Given the description of an element on the screen output the (x, y) to click on. 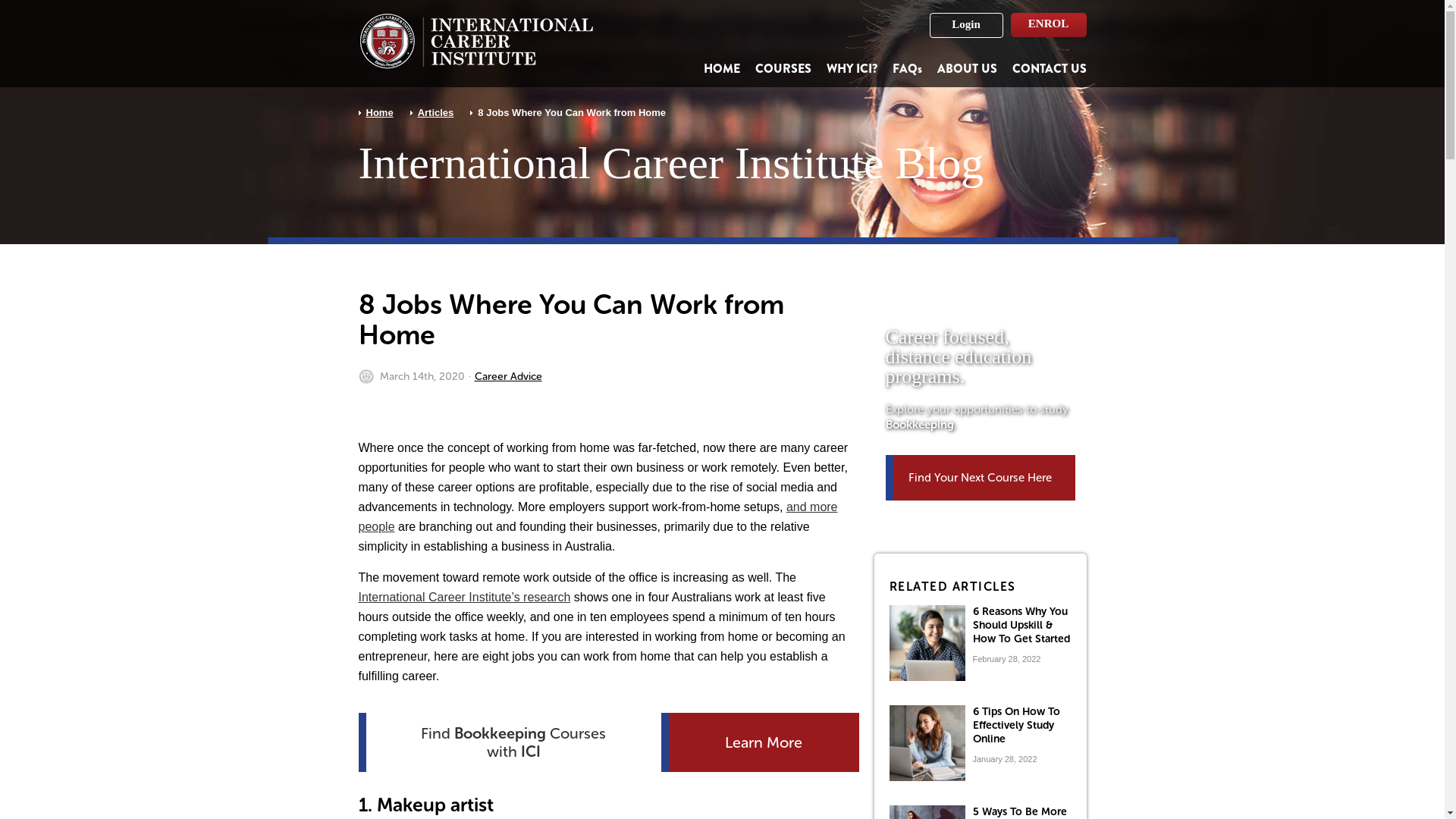
Bookkeeping Element type: text (919, 424)
and more people Element type: text (597, 516)
Articles Element type: text (435, 112)
ABOUT US Element type: text (967, 68)
HOME Element type: text (721, 68)
FAQs Element type: text (906, 68)
WHY ICI? Element type: text (851, 68)
6 Reasons Why You Should Upskill & How To Get Started Element type: text (1020, 625)
Login Element type: text (966, 24)
Career Advice Element type: text (508, 376)
ENROL Element type: text (1047, 24)
CONTACT US Element type: text (1048, 68)
Home Element type: text (378, 112)
6 Tips On How To Effectively Study Online Element type: text (1015, 725)
Find Bookkeeping Courses with ICI
Learn More Element type: text (607, 741)
Find Your Next Course Here Element type: text (980, 477)
COURSES Element type: text (783, 68)
